Given the description of an element on the screen output the (x, y) to click on. 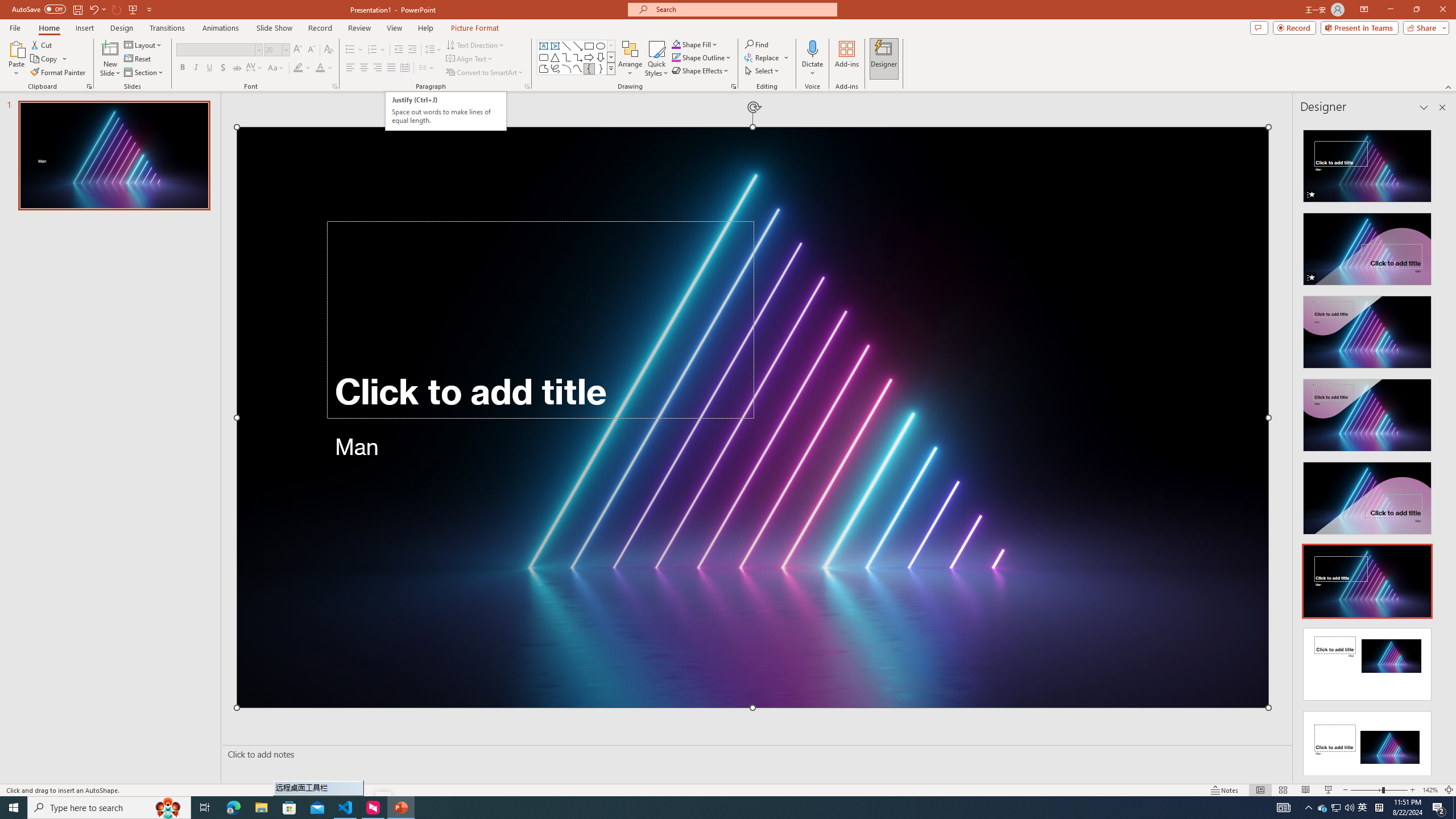
Class: NetUIScrollBar (1441, 447)
